Given the description of an element on the screen output the (x, y) to click on. 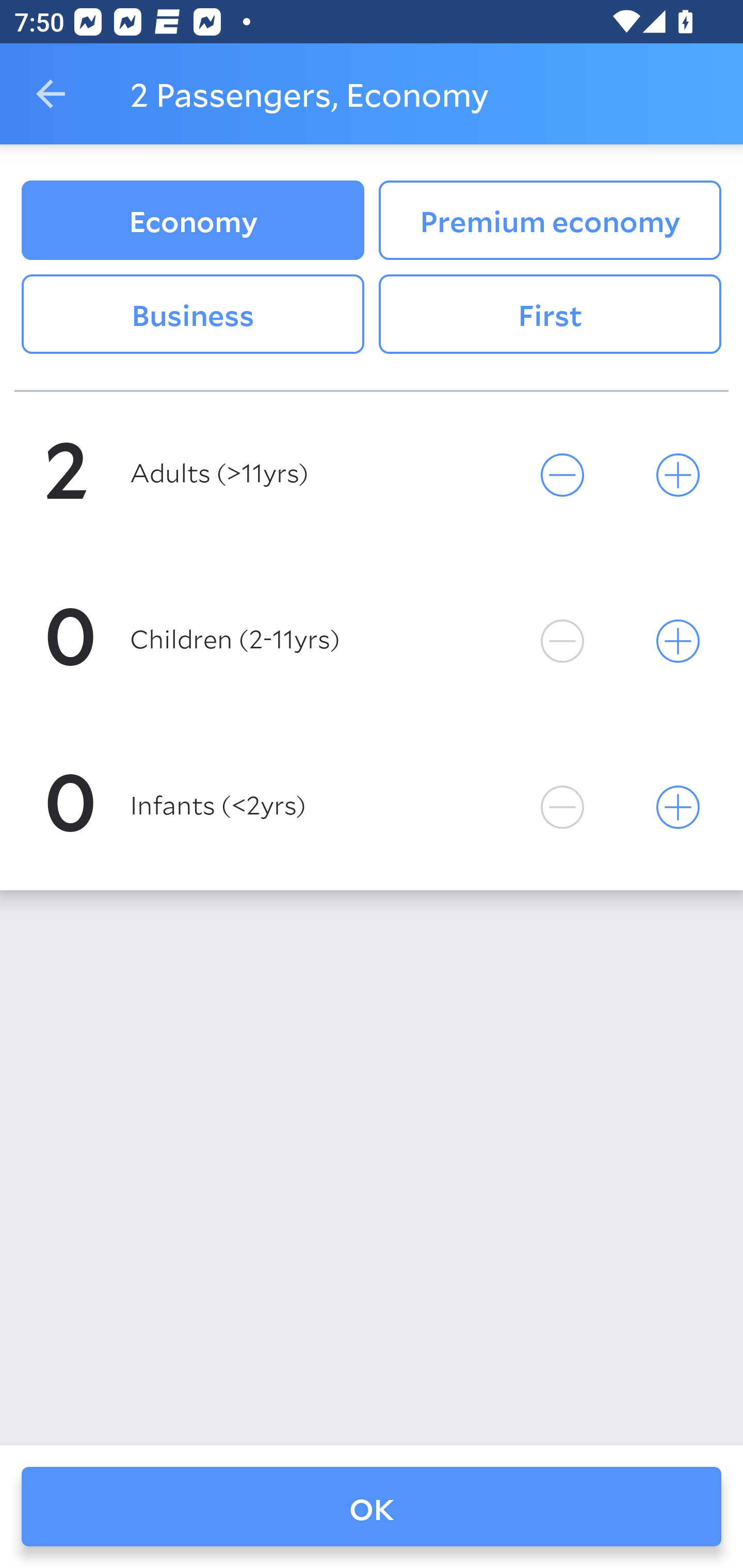
Navigate up (50, 93)
Economy (192, 220)
Premium economy (549, 220)
Business (192, 314)
First (549, 314)
OK (371, 1506)
